Given the description of an element on the screen output the (x, y) to click on. 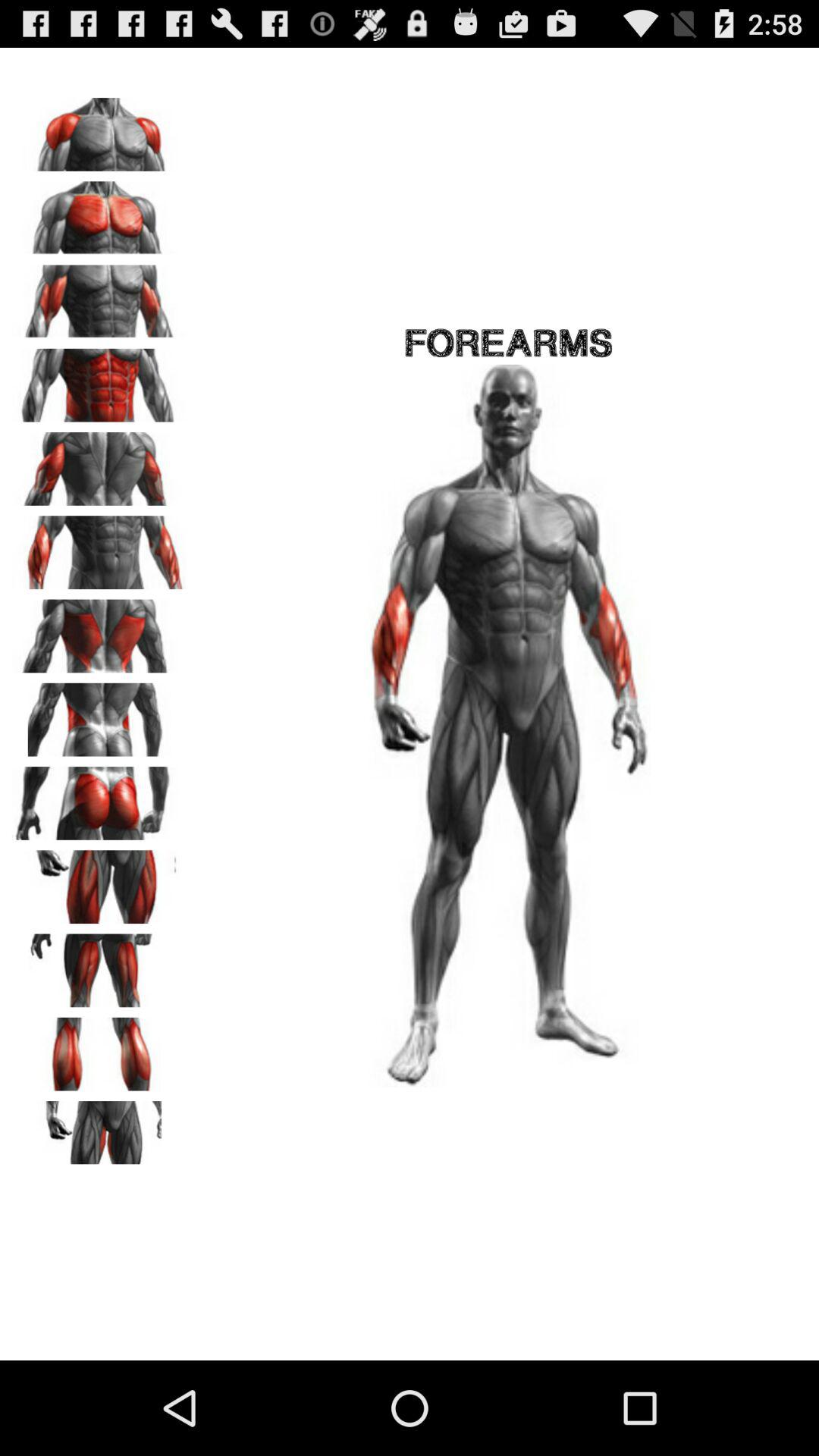
zoom in on area (99, 296)
